Given the description of an element on the screen output the (x, y) to click on. 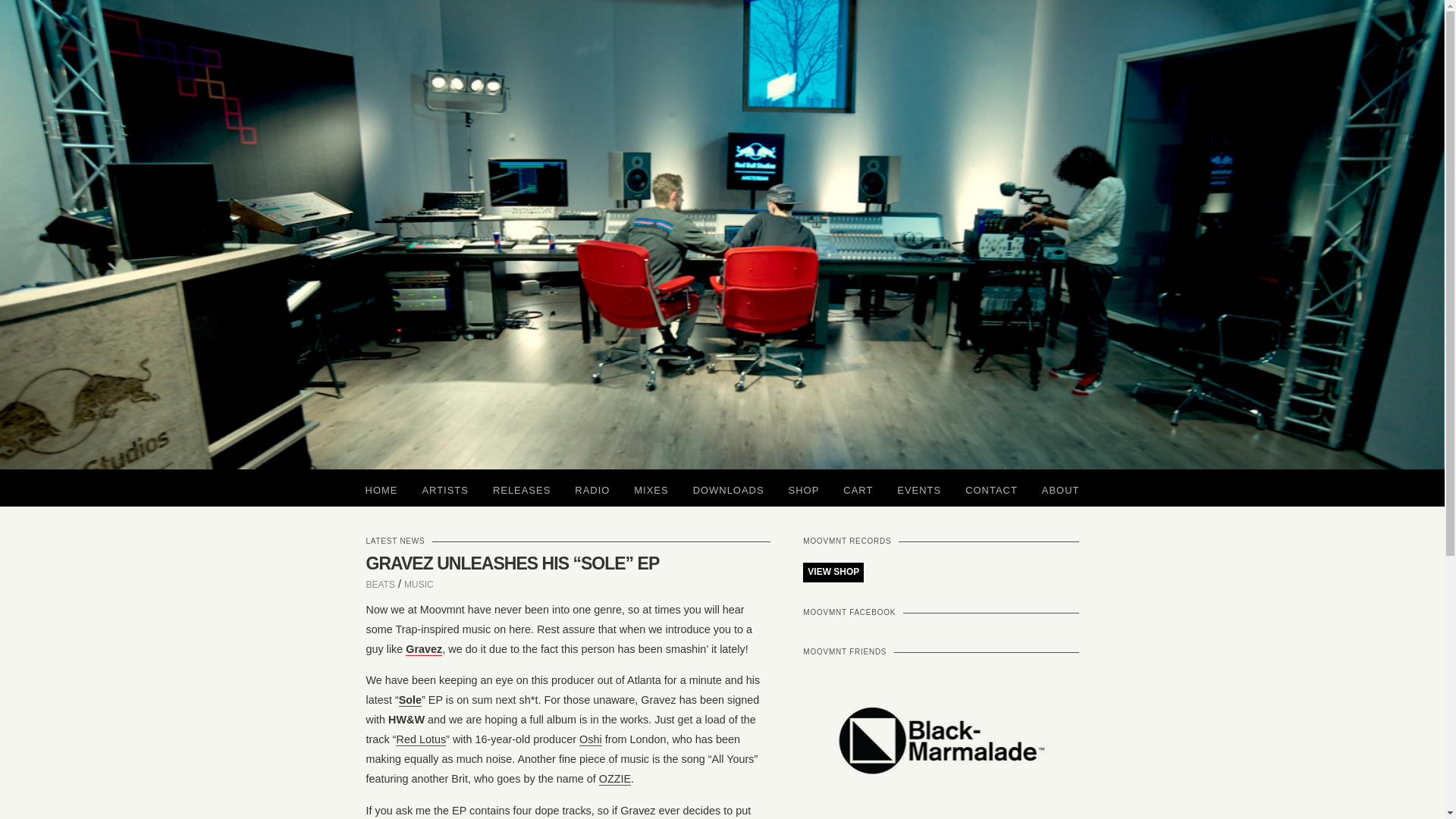
Search (26, 6)
MIXES (650, 487)
Gravez (424, 649)
CART (857, 487)
LATEST NEWS (395, 541)
SHOP (803, 487)
ABOUT (1060, 487)
Sole (410, 699)
Oshi (590, 739)
RADIO (592, 487)
